Given the description of an element on the screen output the (x, y) to click on. 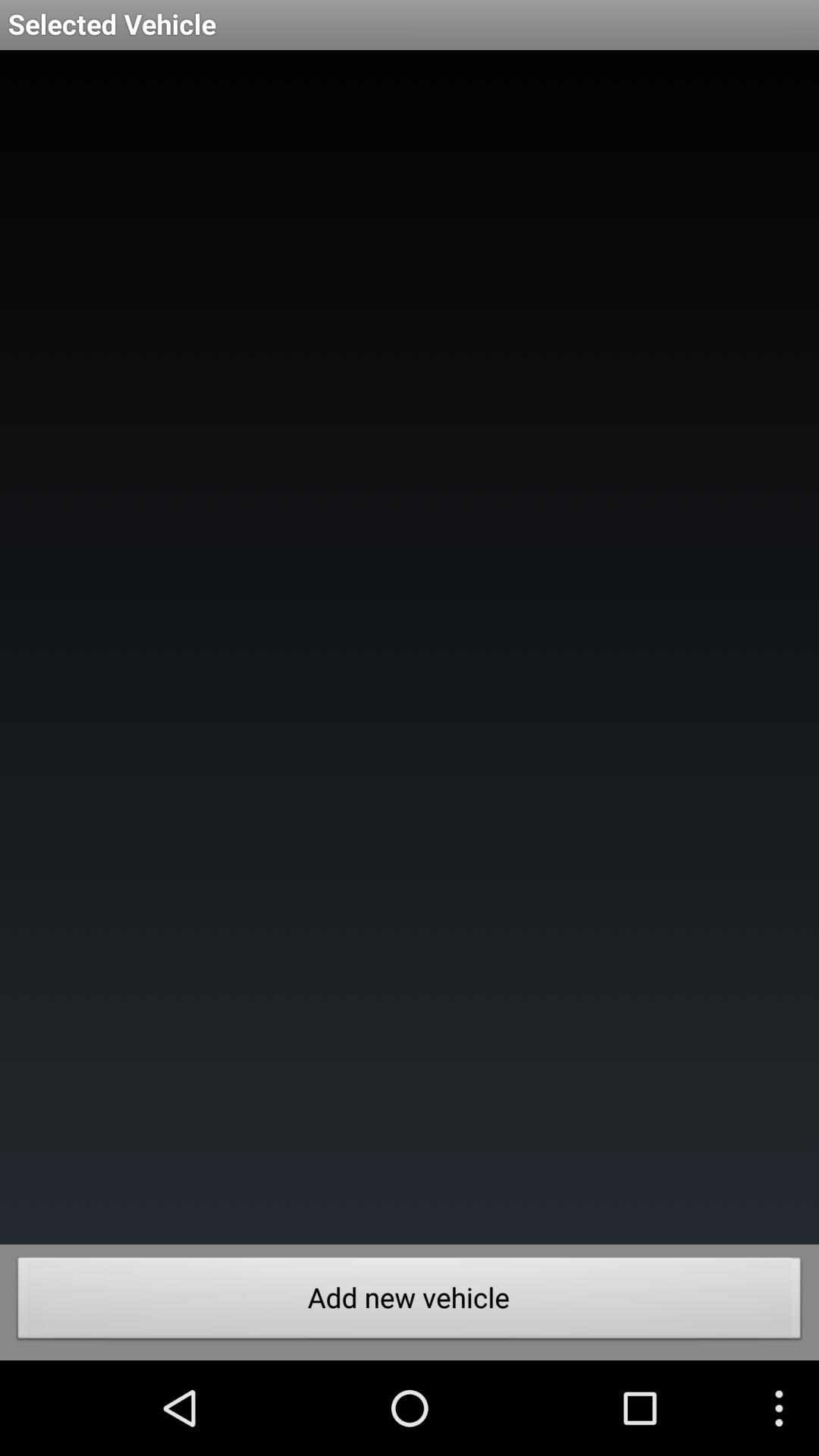
open the item at the center (409, 647)
